Given the description of an element on the screen output the (x, y) to click on. 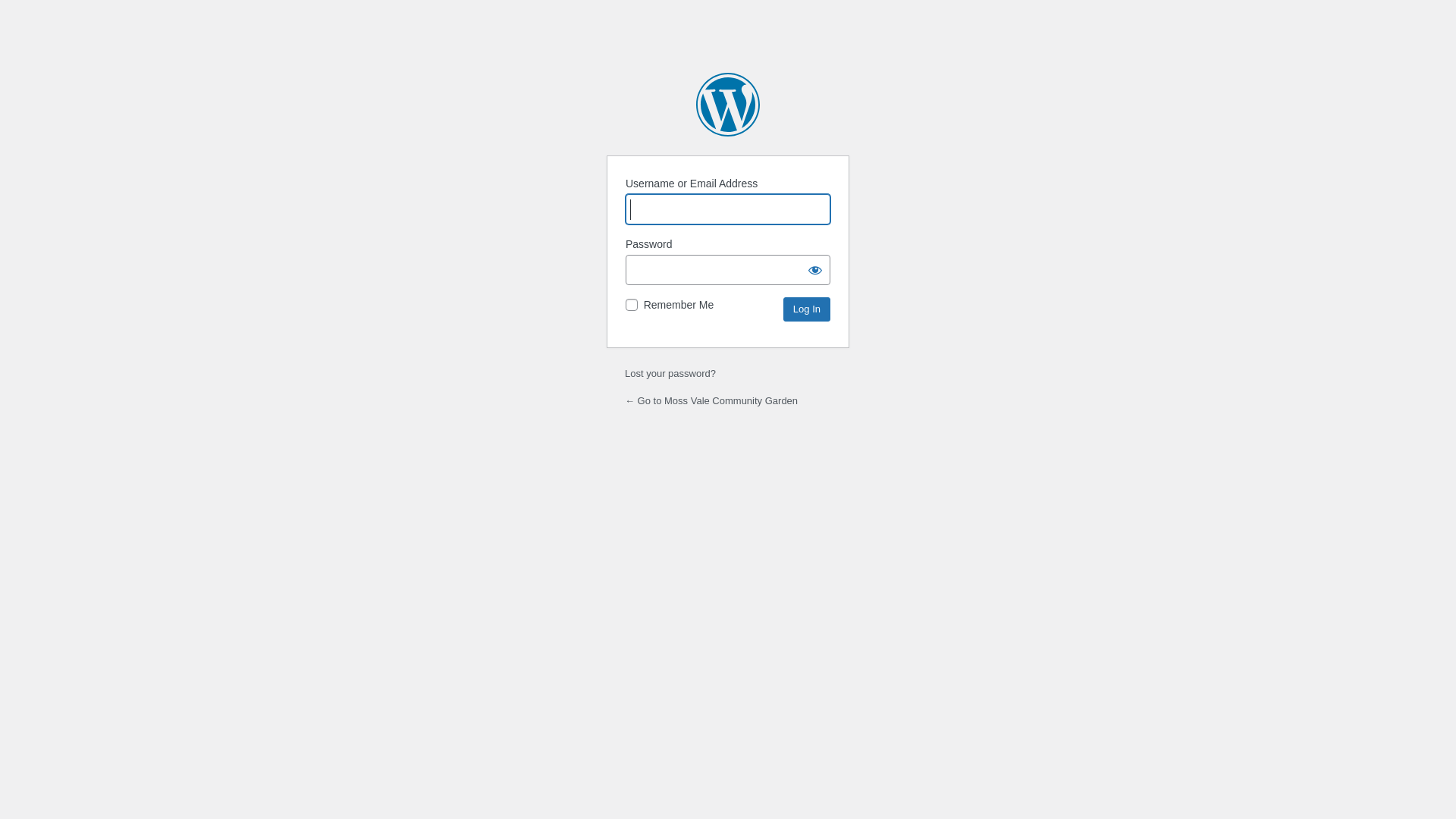
Log In Element type: text (806, 309)
Lost your password? Element type: text (669, 373)
Powered by WordPress Element type: text (727, 104)
